Given the description of an element on the screen output the (x, y) to click on. 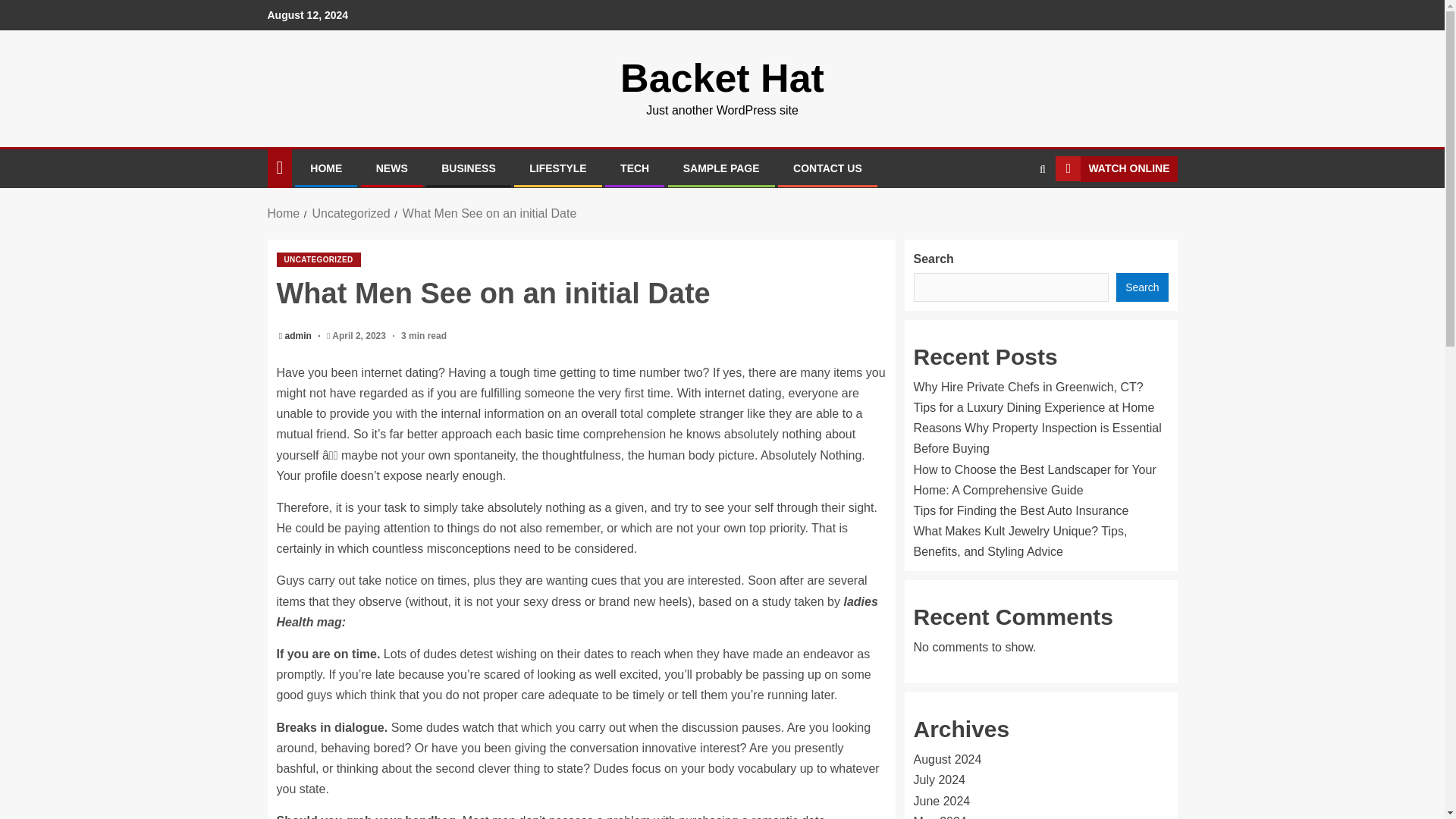
admin (299, 335)
Reasons Why Property Inspection is Essential Before Buying (1036, 438)
TECH (634, 168)
Tips for Finding the Best Auto Insurance (1020, 510)
SAMPLE PAGE (721, 168)
NEWS (391, 168)
LIFESTYLE (557, 168)
Uncategorized (350, 213)
Backet Hat (722, 77)
